Given the description of an element on the screen output the (x, y) to click on. 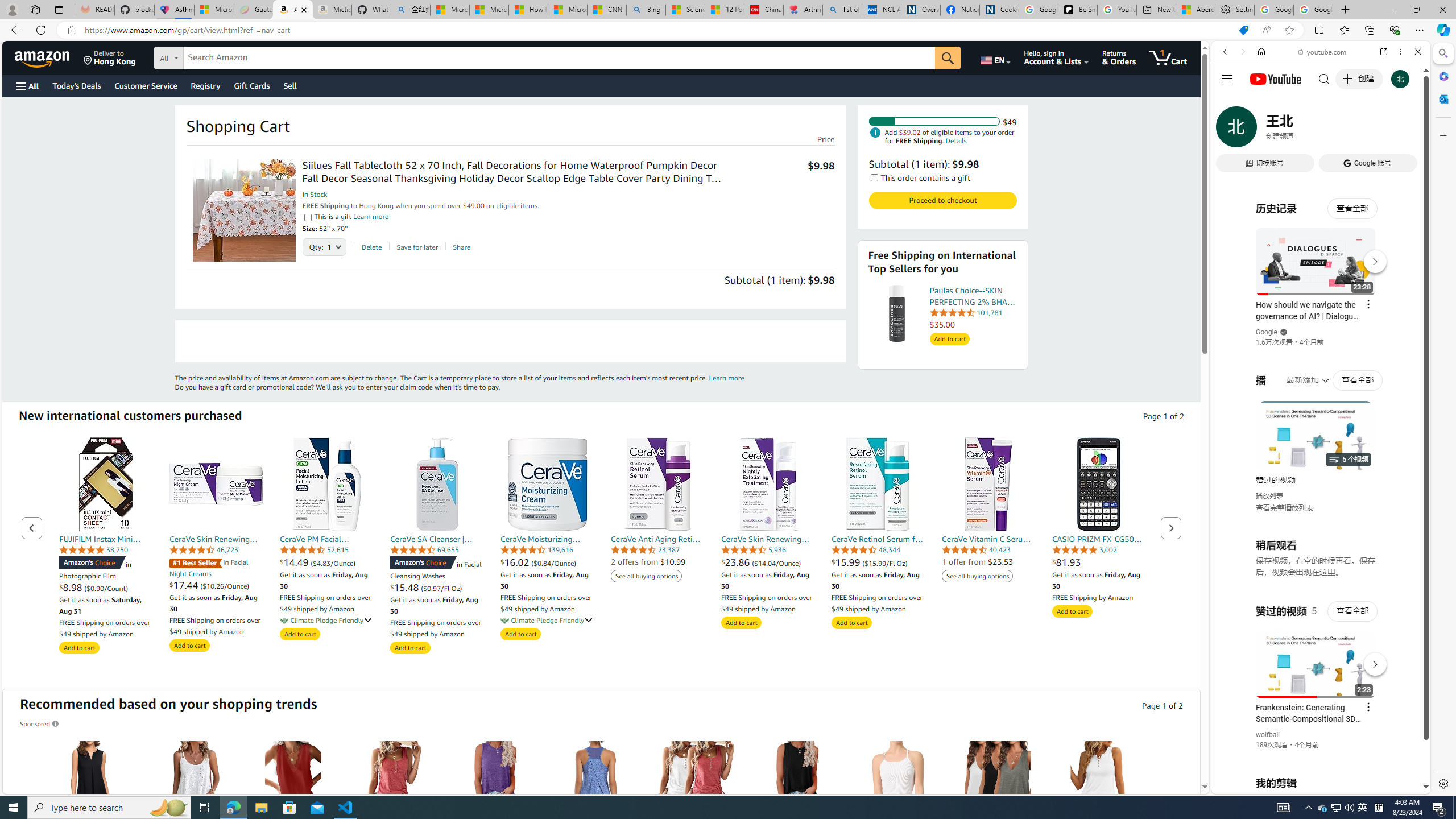
YouTube - YouTube (1315, 560)
$8.98  (71, 587)
$14.49  (295, 562)
($4.83/Ounce) (333, 562)
Registry (205, 85)
